Given the description of an element on the screen output the (x, y) to click on. 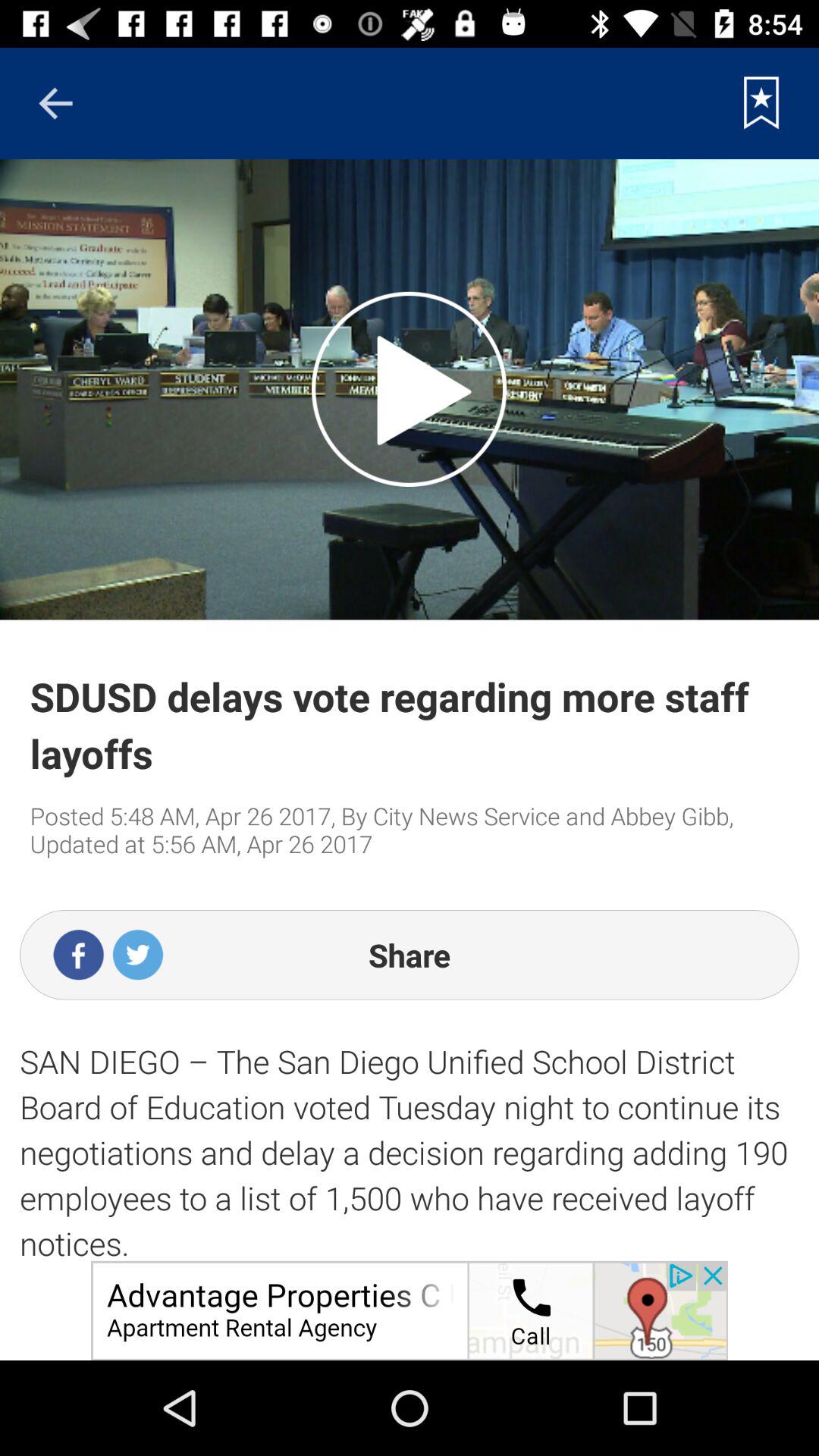
switch autoplay option (408, 388)
